Given the description of an element on the screen output the (x, y) to click on. 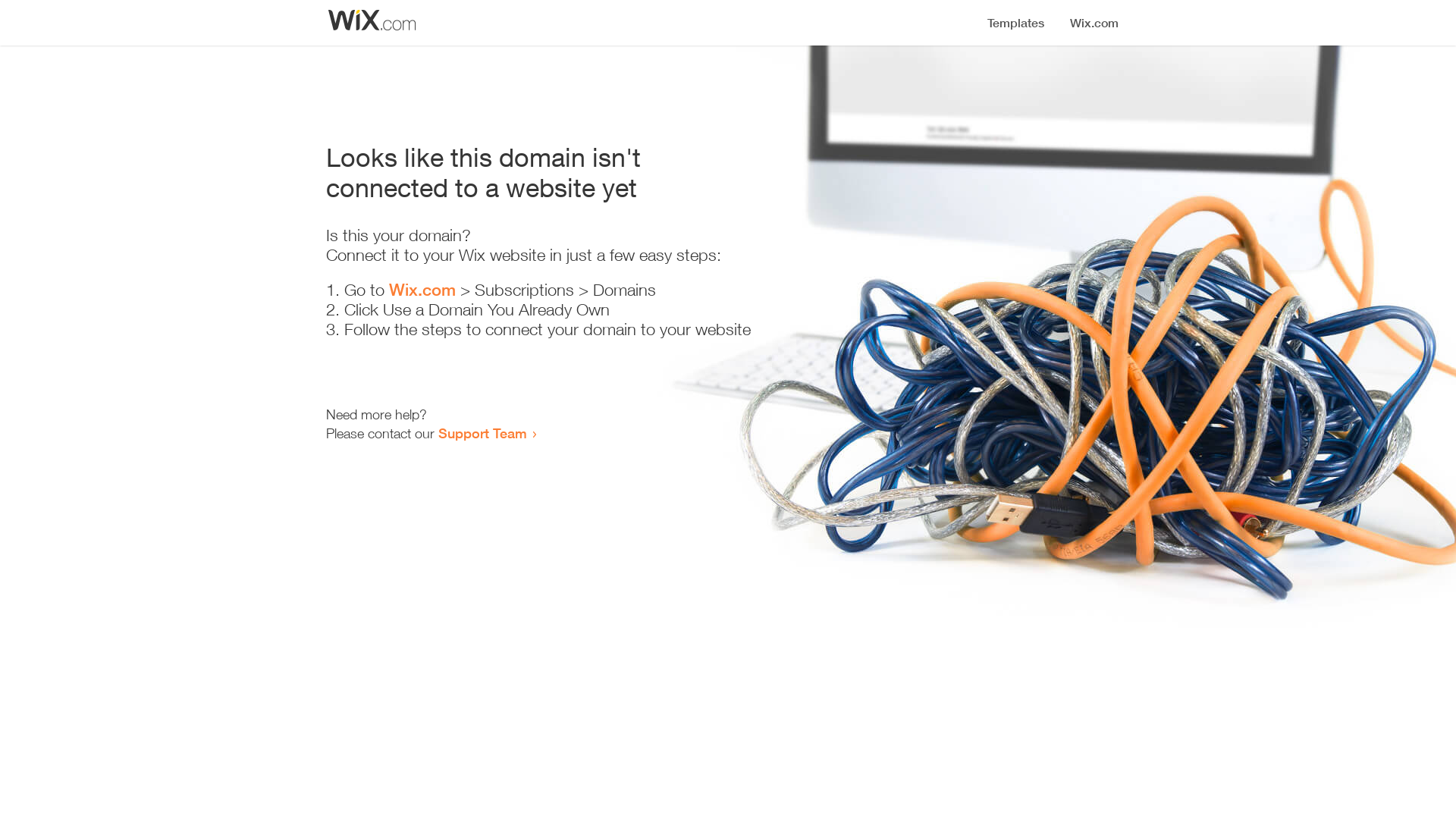
Support Team Element type: text (482, 432)
Wix.com Element type: text (422, 289)
